Given the description of an element on the screen output the (x, y) to click on. 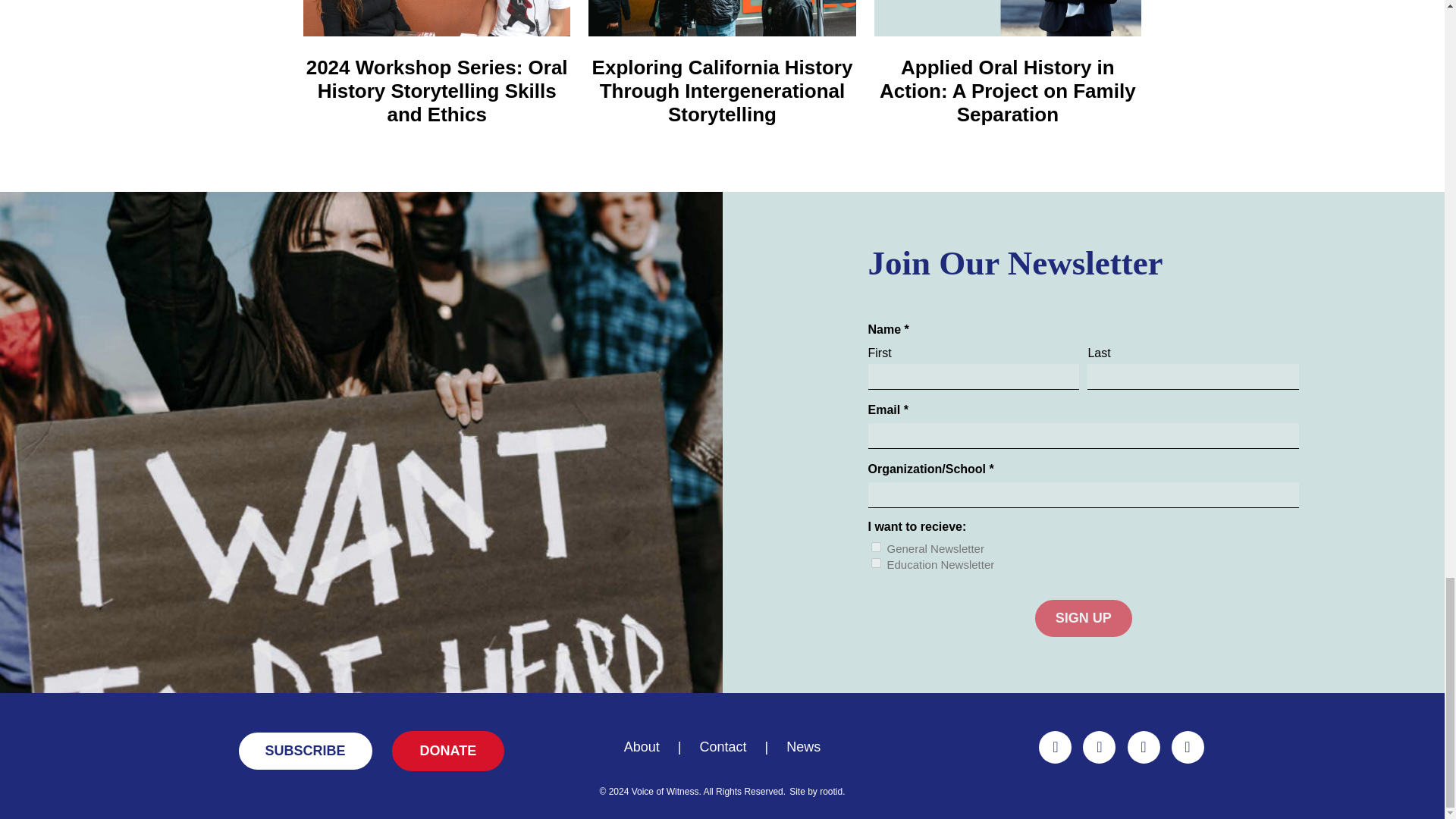
Education Newsletter (875, 562)
General Newsletter (875, 547)
SIGN UP (1083, 618)
